Given the description of an element on the screen output the (x, y) to click on. 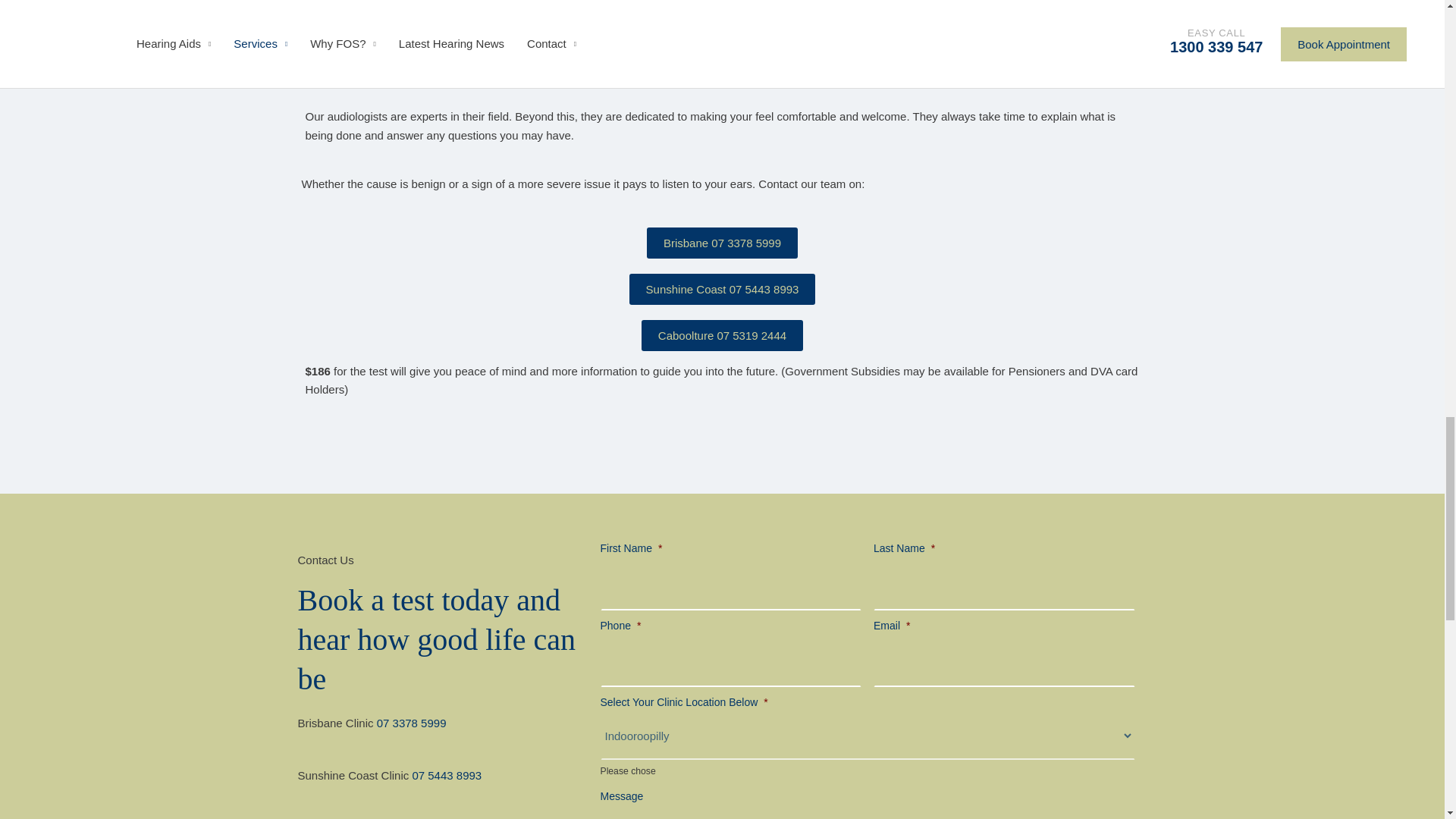
Caboolture 07 5319 2444 (722, 335)
Brisbane 07 3378 5999 (721, 242)
Sunshine Coast 07 5443 8993 (721, 287)
07 3378 5999 (411, 722)
